Given the description of an element on the screen output the (x, y) to click on. 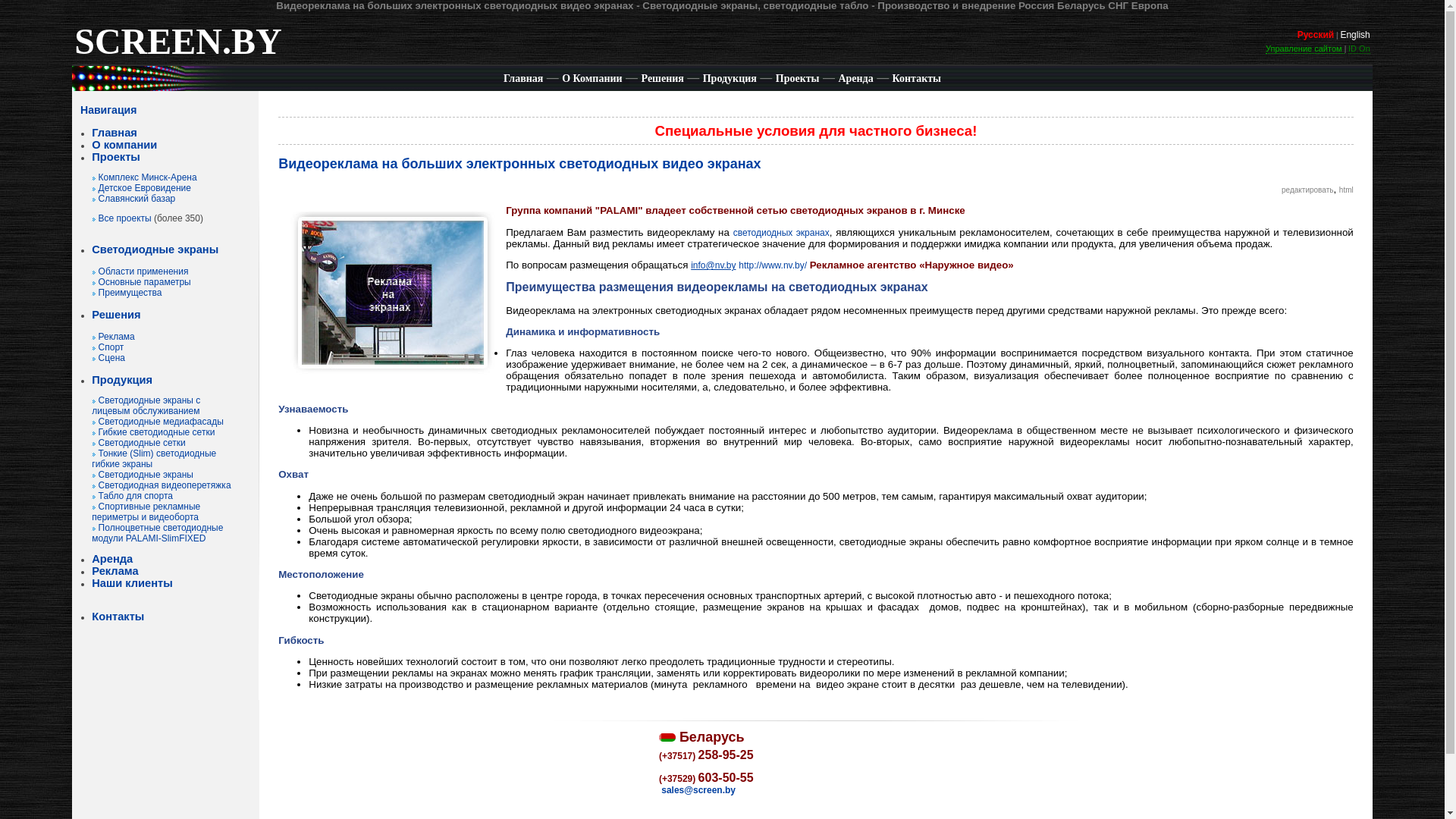
http://www.nv.by/ Element type: text (772, 265)
ID On Element type: text (1359, 48)
English Element type: text (1354, 34)
html Element type: text (1346, 189)
SCREEN.BY Element type: text (177, 50)
info@nv.by Element type: text (712, 265)
sales@screen.by Element type: text (698, 789)
